Given the description of an element on the screen output the (x, y) to click on. 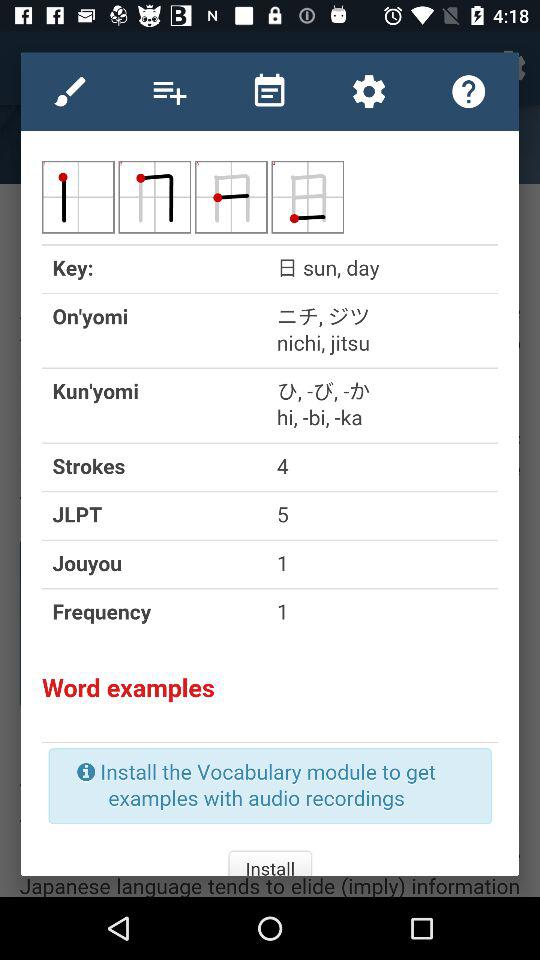
show more menu options (169, 91)
